Given the description of an element on the screen output the (x, y) to click on. 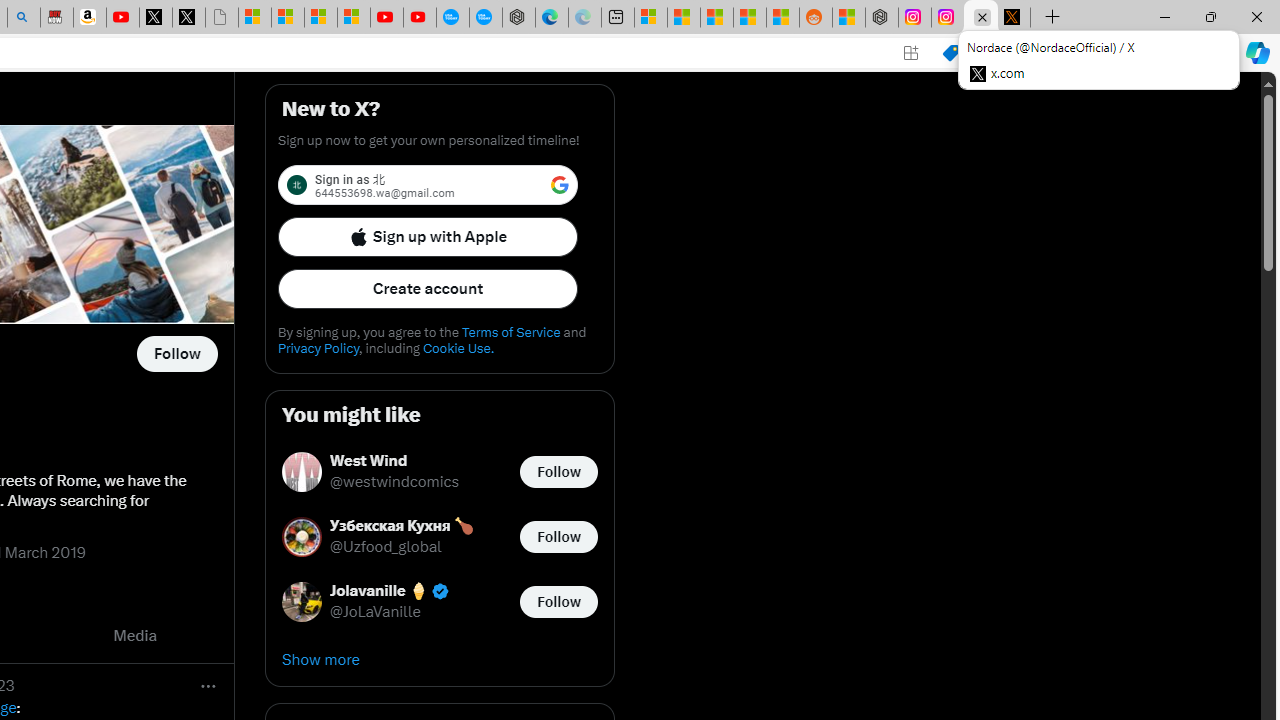
Day 1: Arriving in Yemen (surreal to be here) - YouTube (123, 17)
Follow @westwindcomics (558, 471)
Follow @Uzfood_global (558, 535)
